Given the description of an element on the screen output the (x, y) to click on. 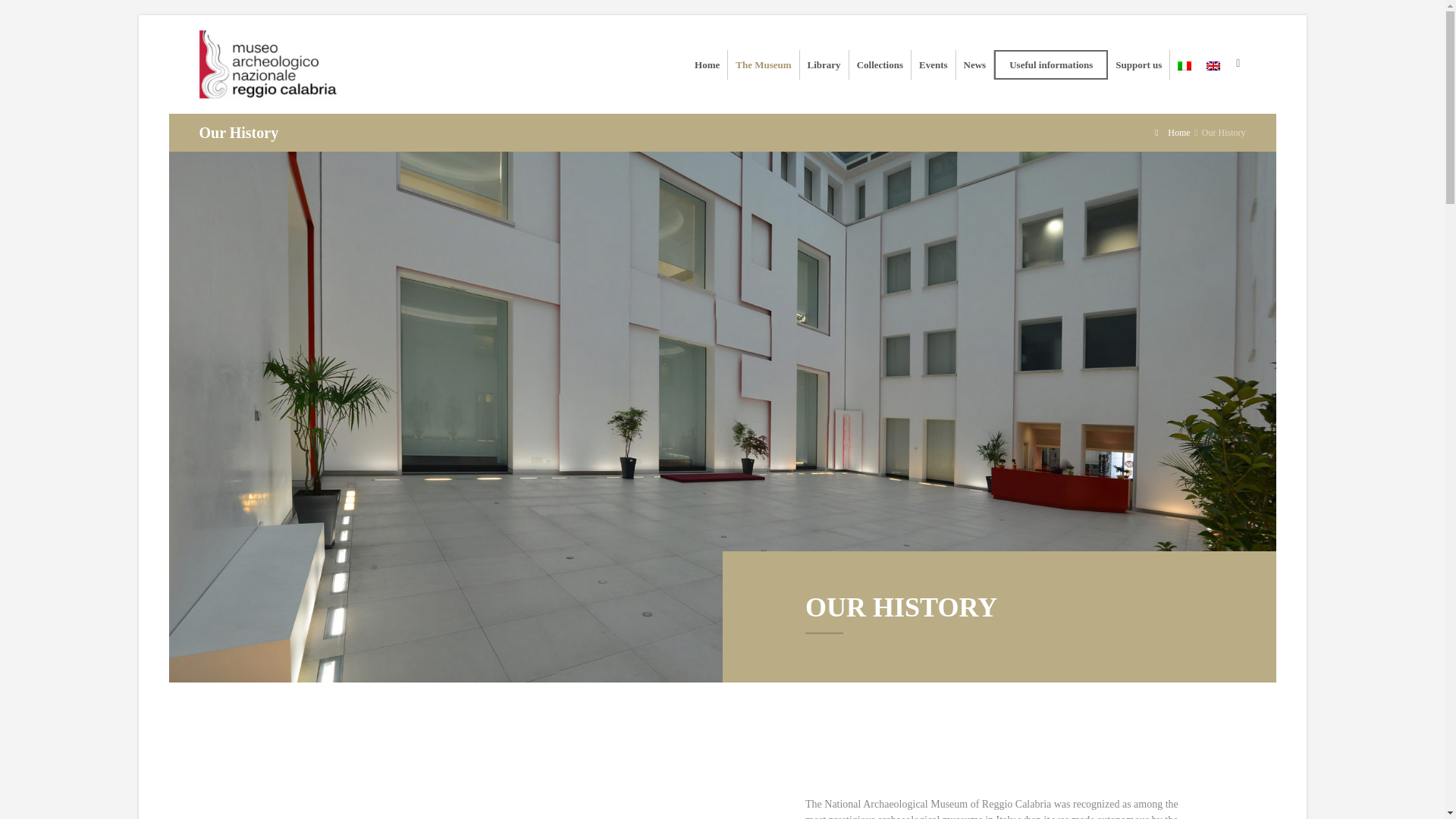
Useful informations (1051, 64)
Collections (879, 64)
Home (706, 64)
News (975, 64)
The Museum (762, 64)
Events (933, 64)
Library (823, 64)
Support us (1138, 64)
MArRC (273, 64)
